Given the description of an element on the screen output the (x, y) to click on. 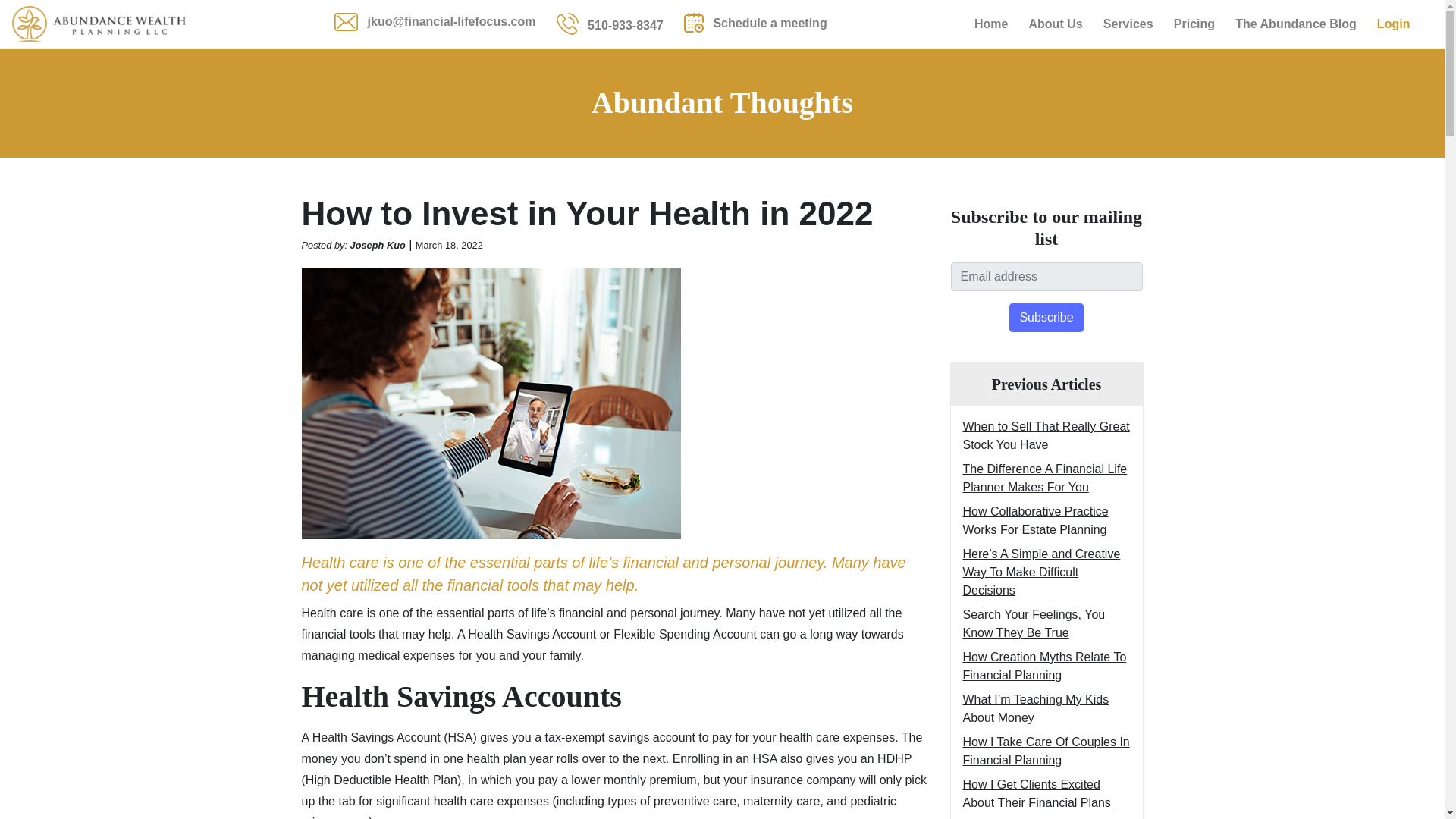
How I Get Clients Excited About Their Financial Plans (1036, 793)
Login (1394, 24)
Search Your Feelings, You Know They Be True (1033, 623)
Pricing (1193, 24)
The Difference A Financial Life Planner Makes For You (1044, 477)
About Us (1055, 24)
510-933-8347 (609, 23)
How I Take Care Of Couples In Financial Planning (1045, 750)
Subscribe (1046, 317)
The Abundance Blog (1296, 24)
Services (1128, 24)
How Creation Myths Relate To Financial Planning (1044, 665)
When to Sell That Really Great Stock You Have (1045, 435)
How Collaborative Practice Works For Estate Planning (1035, 520)
Schedule a meeting (754, 22)
